Given the description of an element on the screen output the (x, y) to click on. 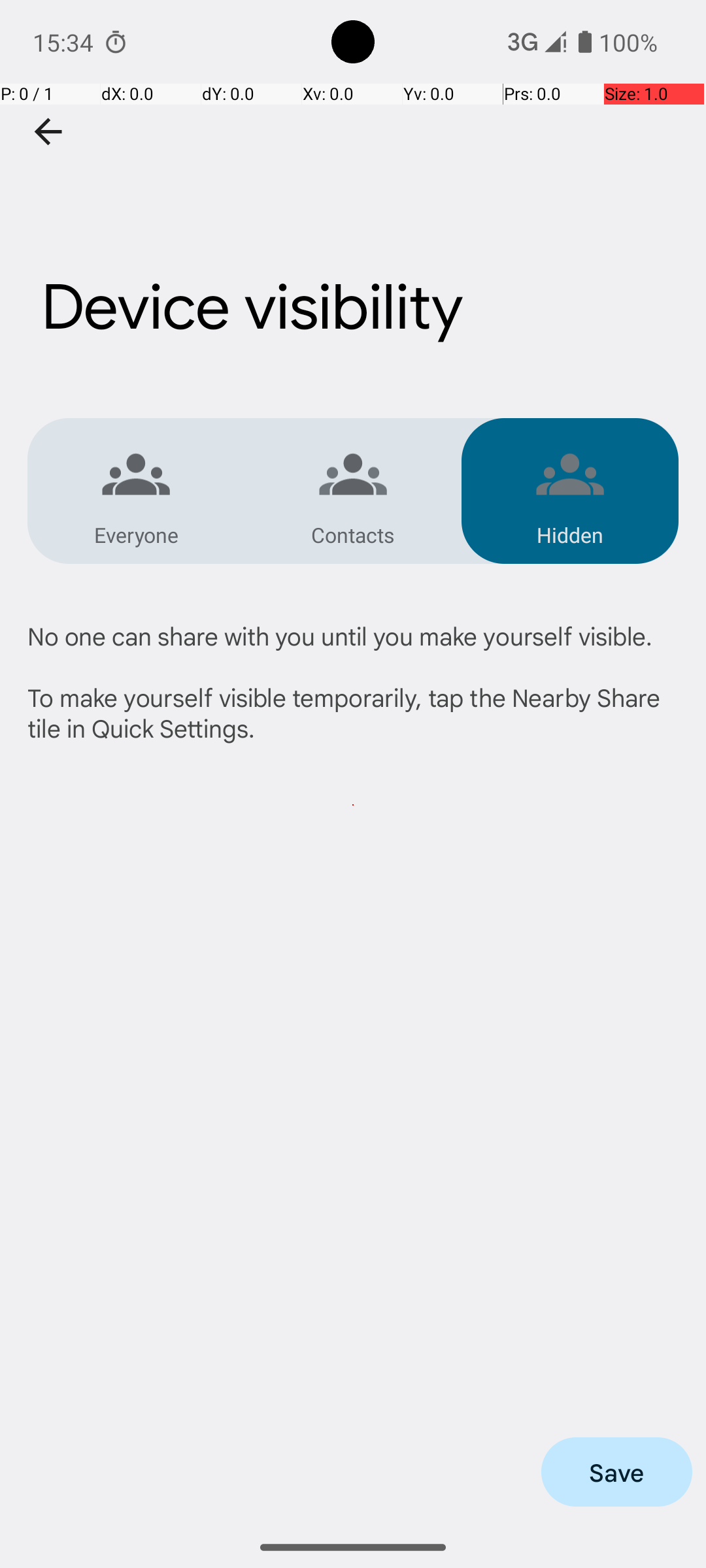
Device visibility Element type: android.widget.FrameLayout (353, 236)
Everyone Element type: android.widget.TextView (135, 534)
Hidden Element type: android.widget.TextView (569, 534)
No one can share with you until you make yourself visible.

To make yourself visible temporarily, tap the Nearby Share tile in Quick Settings. Element type: android.widget.TextView (353, 681)
